Given the description of an element on the screen output the (x, y) to click on. 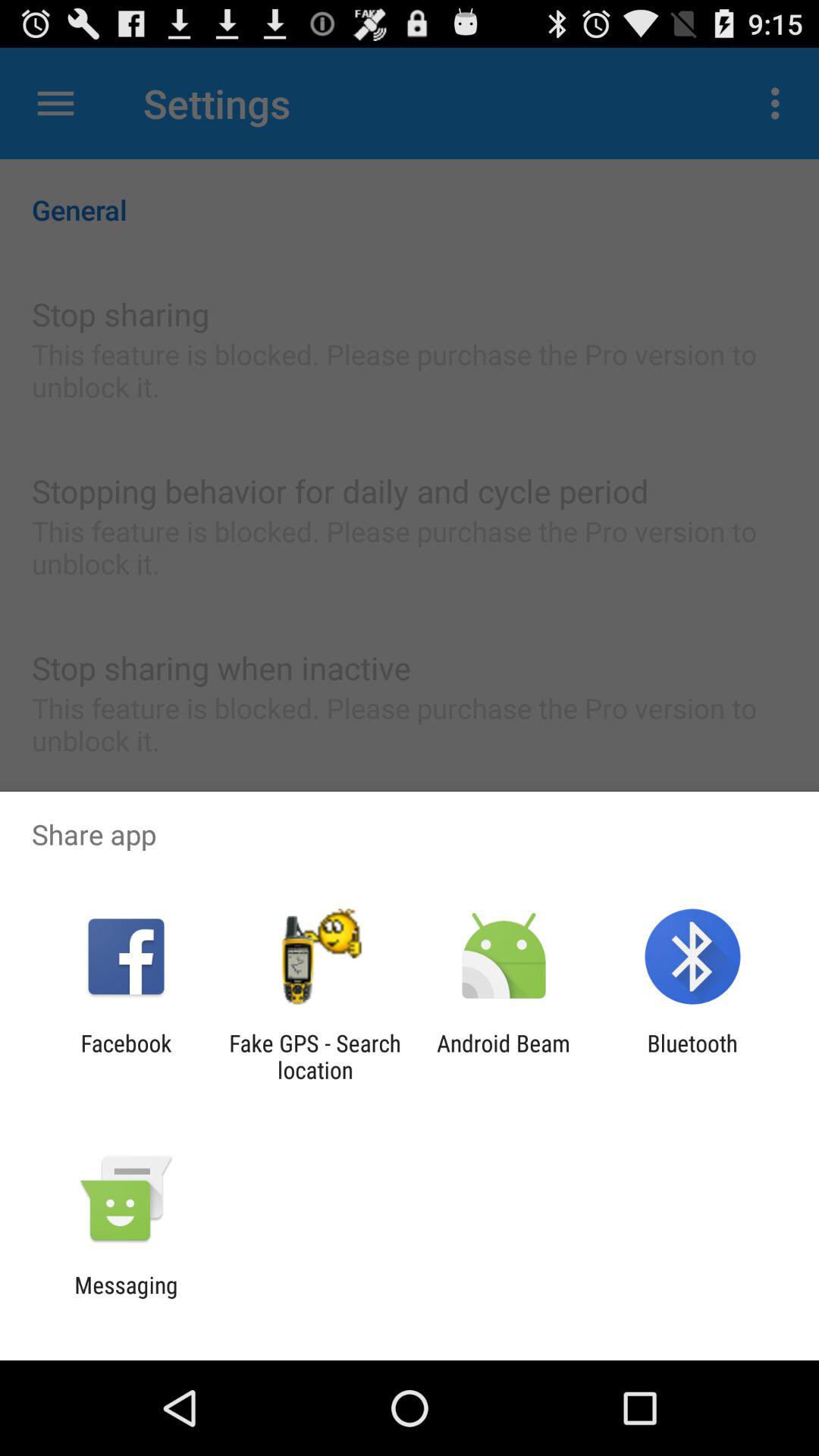
choose app at the bottom right corner (692, 1056)
